Given the description of an element on the screen output the (x, y) to click on. 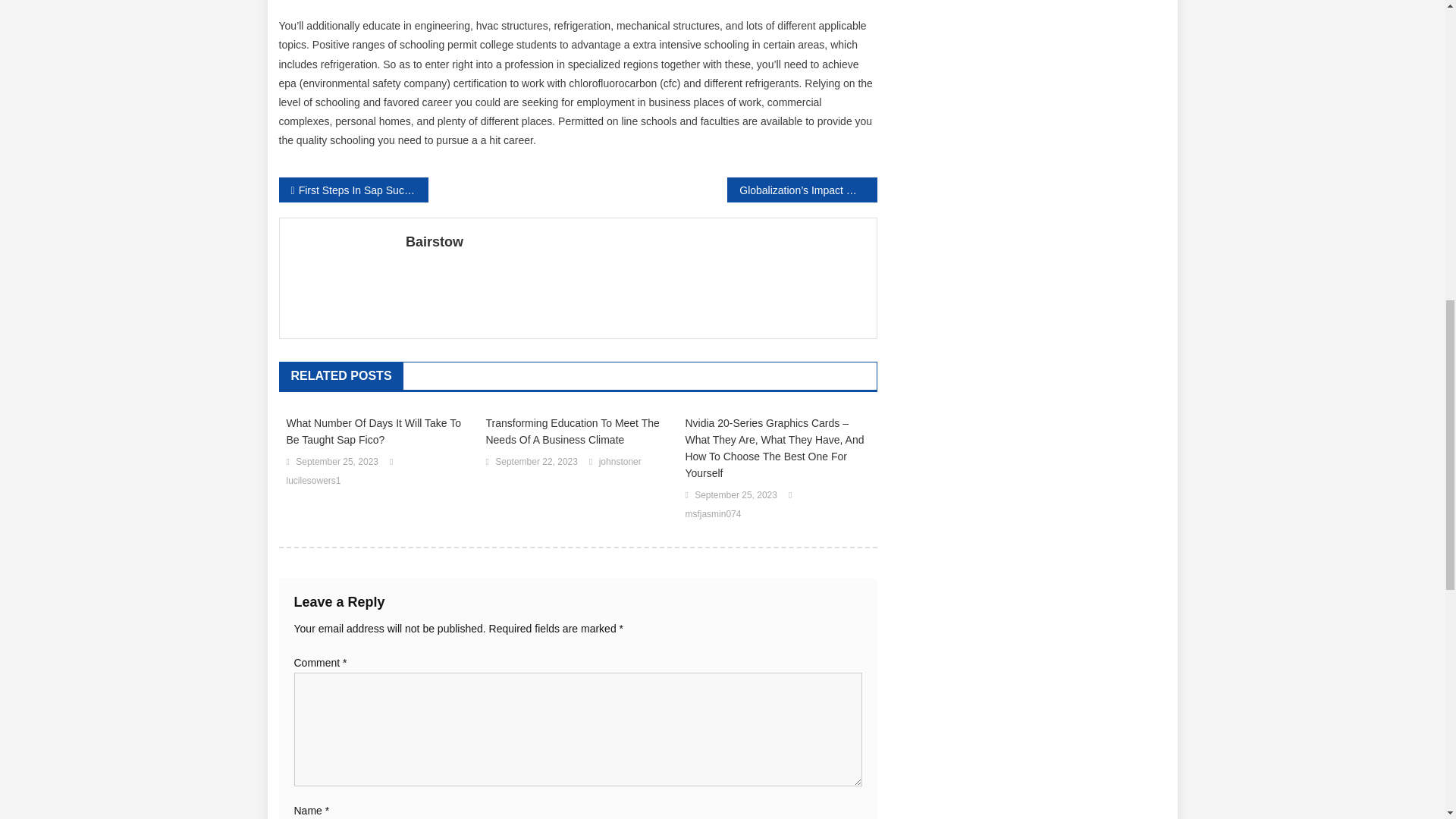
First Steps In Sap Successfactors (353, 189)
What Number Of Days It Will Take To Be Taught Sap Fico? (378, 430)
Bairstow (635, 241)
